Given the description of an element on the screen output the (x, y) to click on. 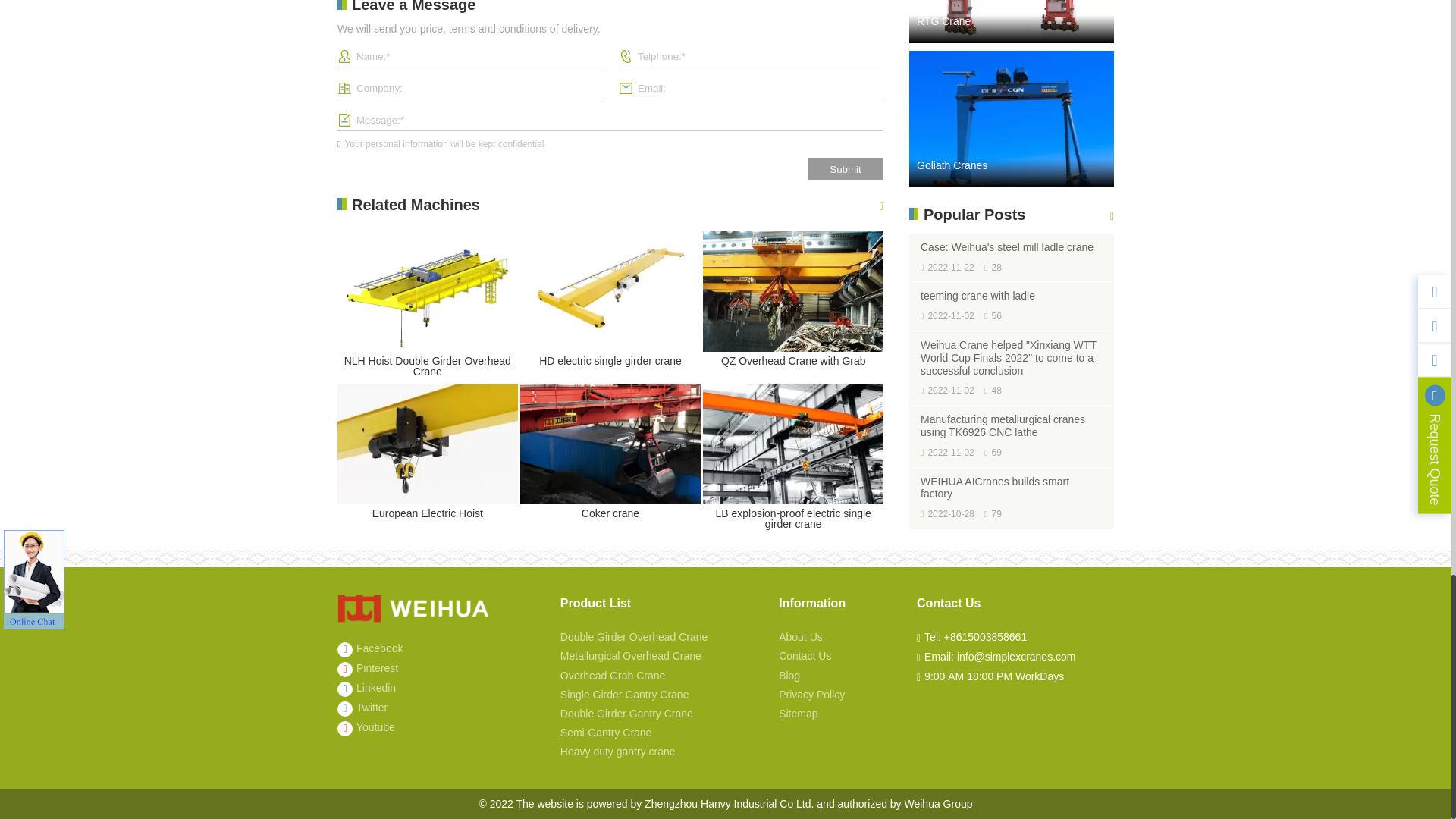
Submit (845, 169)
